Given the description of an element on the screen output the (x, y) to click on. 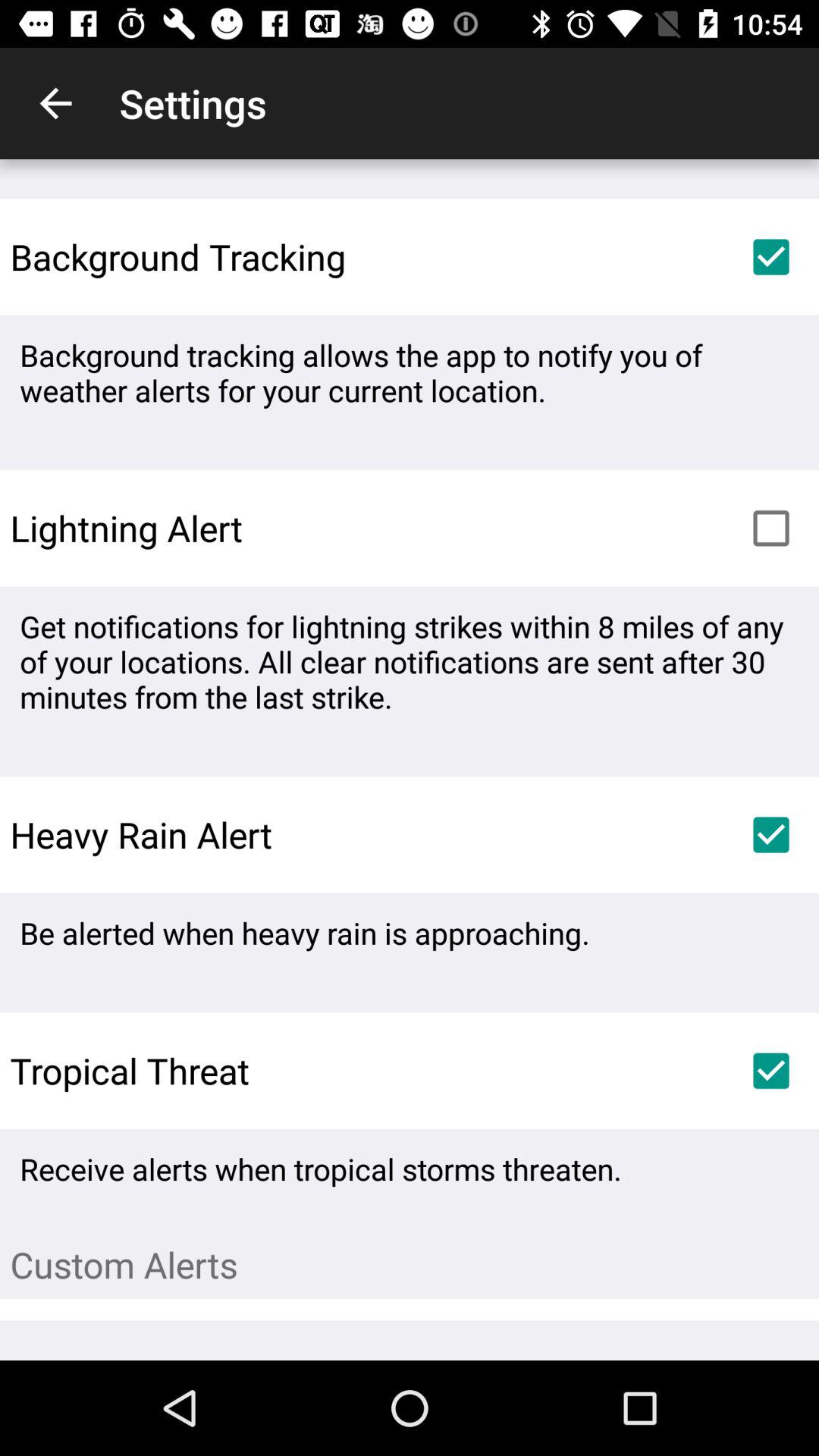
click icon next to settings item (55, 103)
